Given the description of an element on the screen output the (x, y) to click on. 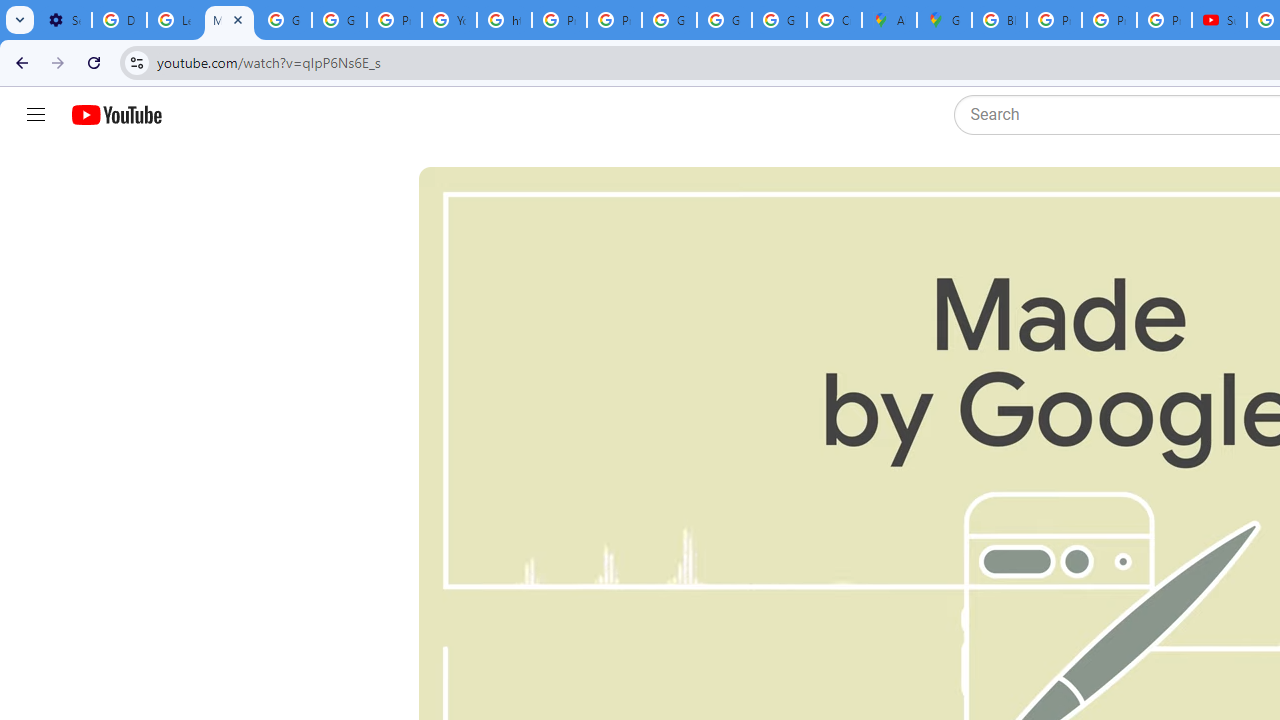
Google Account Help (284, 20)
